Given the description of an element on the screen output the (x, y) to click on. 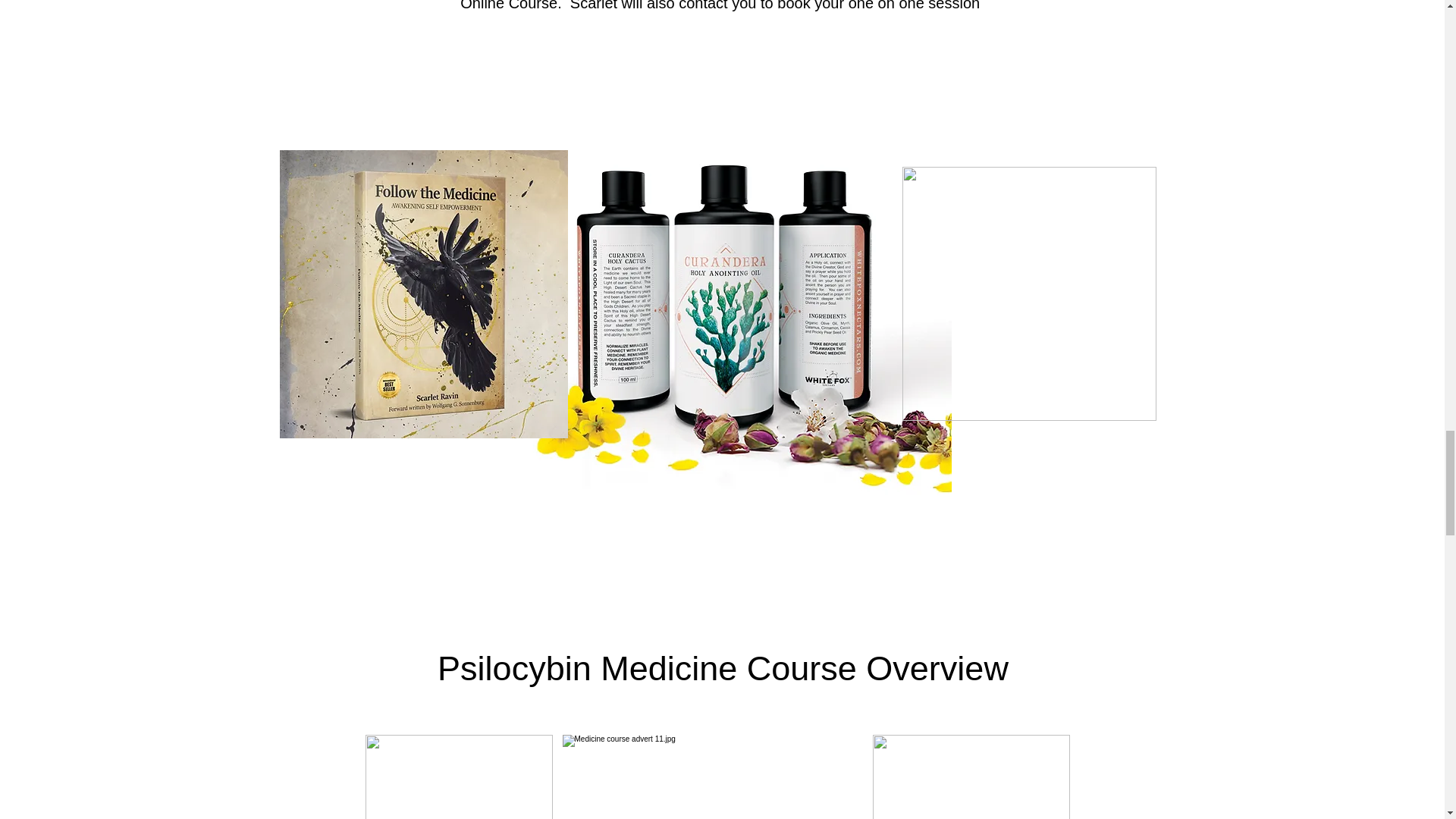
Psilocybinbookcover.jpg (1029, 293)
